Given the description of an element on the screen output the (x, y) to click on. 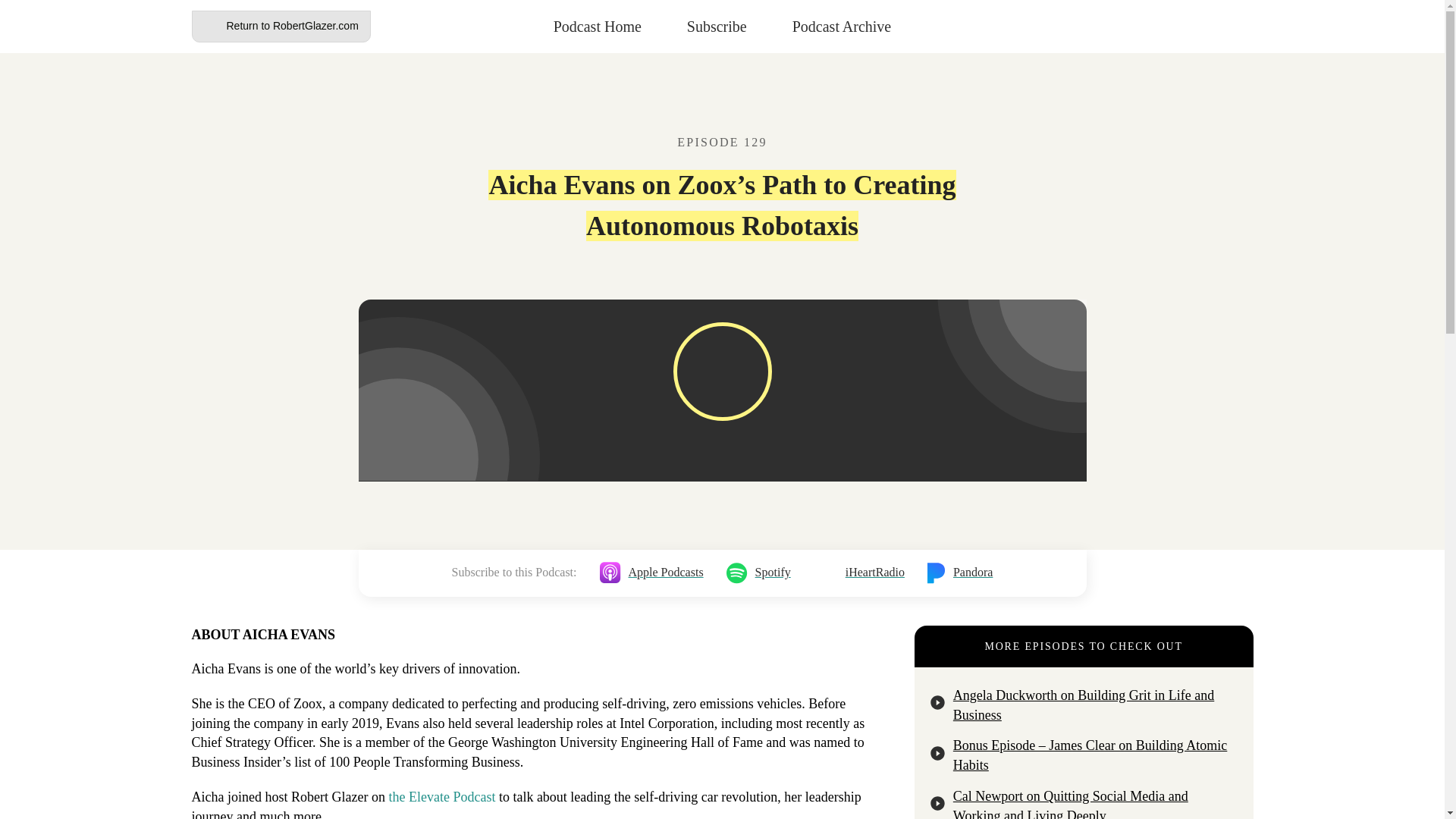
Spotify (758, 572)
Apple Podcasts (650, 572)
Podcast Archive (841, 26)
Pandora (959, 572)
Angela Duckworth on Building Grit in Life and Business (1084, 705)
Subscribe (716, 26)
the Elevate Podcast (441, 796)
Return to RobertGlazer.com (279, 26)
Podcast Home (597, 26)
